Given the description of an element on the screen output the (x, y) to click on. 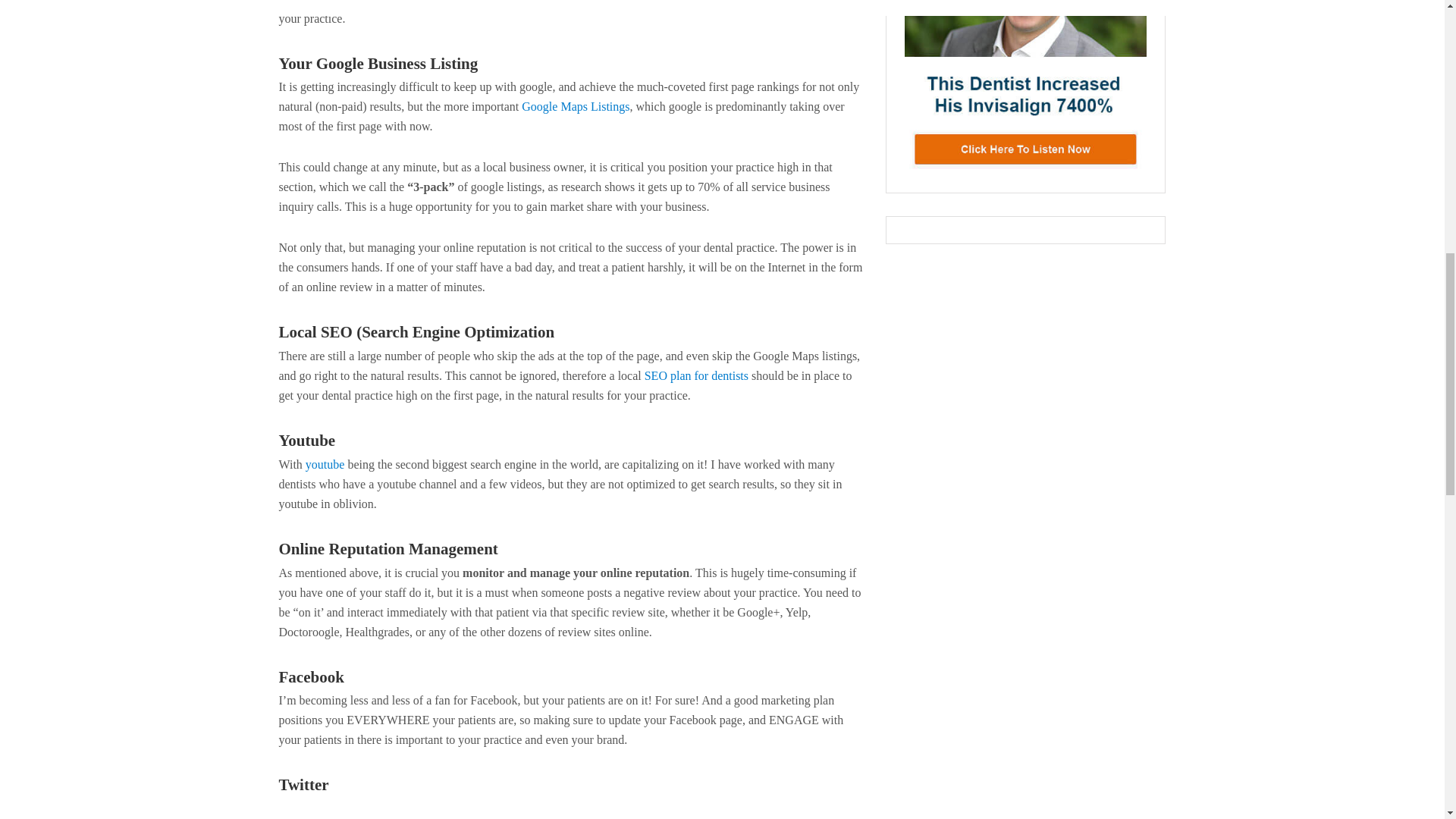
youtube (325, 463)
SEO plan for dentists (696, 375)
Google Maps Listings (574, 106)
